Given the description of an element on the screen output the (x, y) to click on. 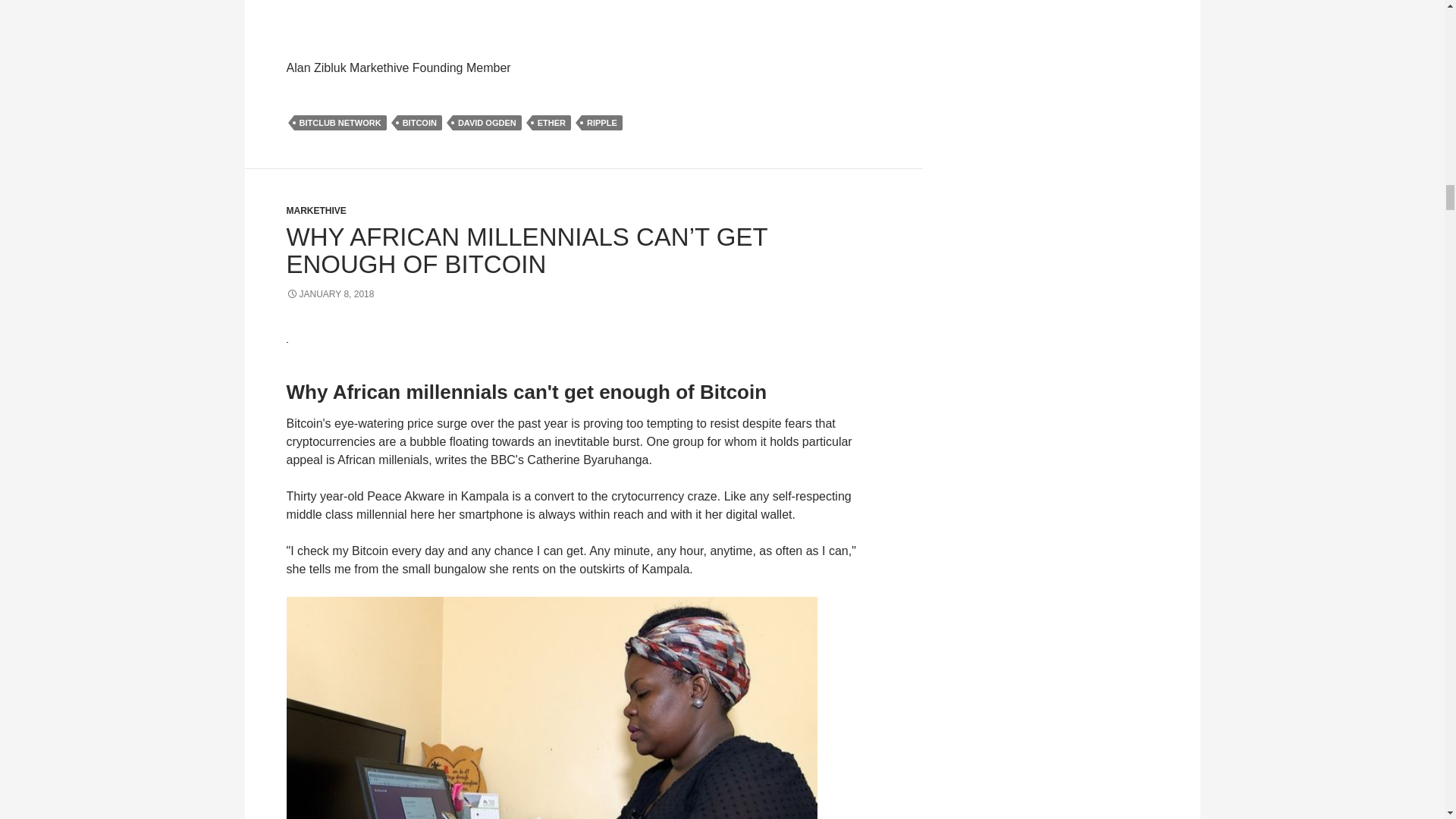
ETHER (551, 122)
MARKETHIVE (316, 210)
JANUARY 8, 2018 (330, 294)
DAVID OGDEN (486, 122)
BITCOIN (419, 122)
RIPPLE (601, 122)
BITCLUB NETWORK (340, 122)
